Given the description of an element on the screen output the (x, y) to click on. 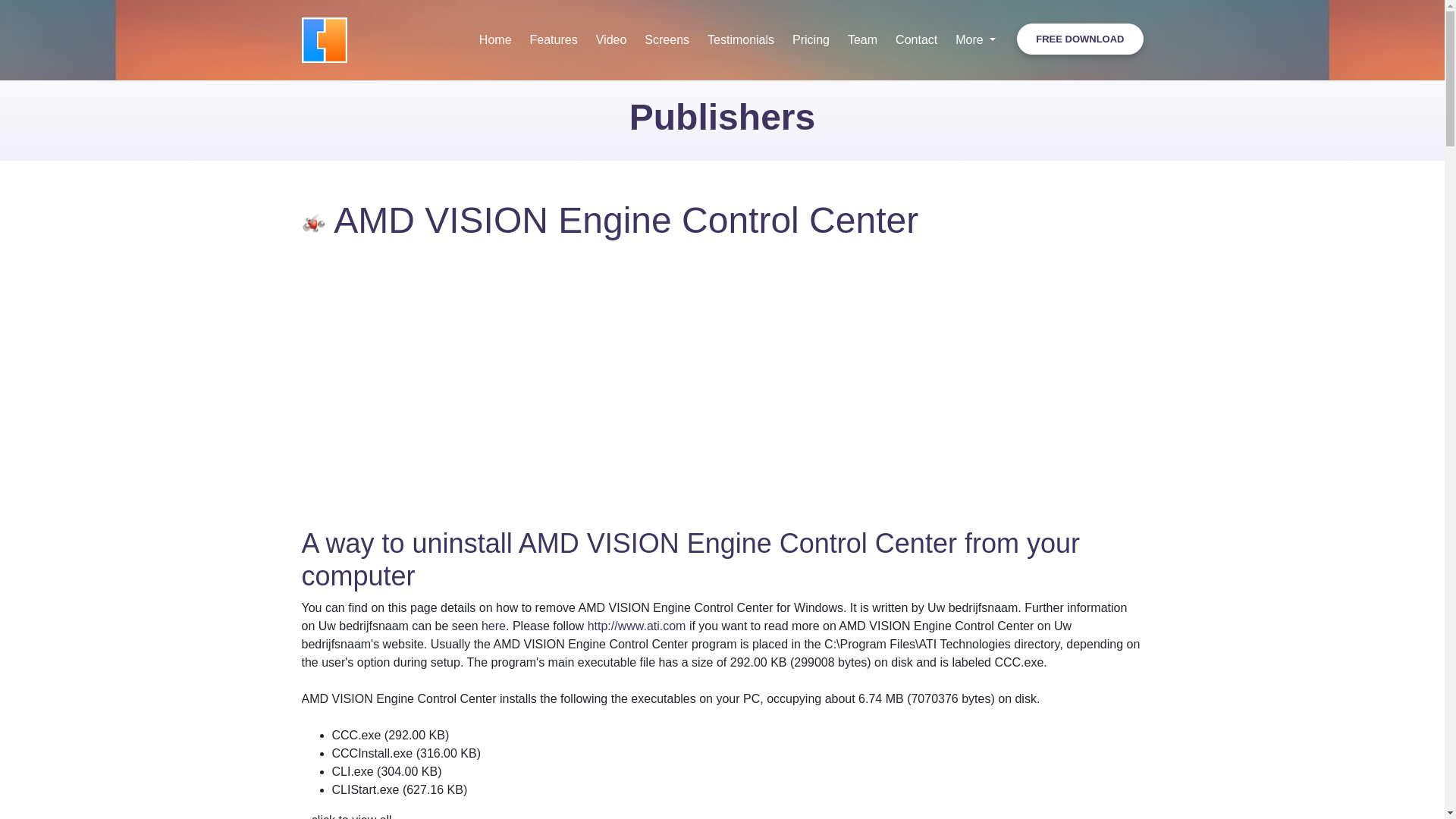
FREE DOWNLOAD (1079, 38)
Team (862, 39)
Features (553, 39)
Testimonials (740, 39)
Testimonials (740, 39)
More (975, 39)
Screens (666, 39)
Pricing (810, 39)
...click to view all... (351, 816)
Team (862, 39)
Contact (916, 39)
Features (553, 39)
Screens (666, 39)
here (493, 625)
